Given the description of an element on the screen output the (x, y) to click on. 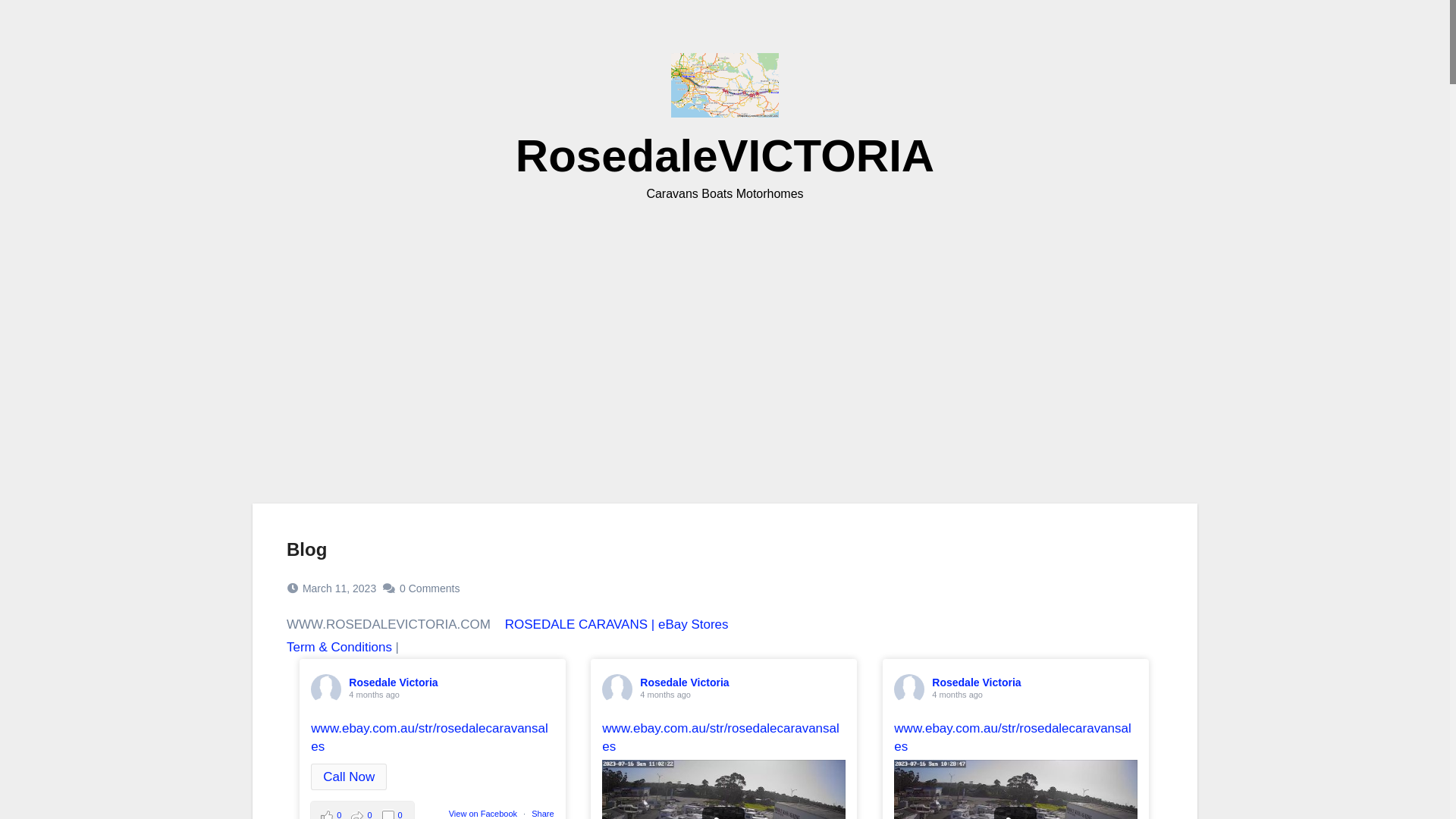
Blog Element type: text (306, 549)
Rosedale Victoria Element type: text (975, 682)
www.ebay.com.au/str/rosedalecaravansales Element type: text (1012, 737)
Term & Conditions Element type: text (339, 647)
View on Facebook Element type: text (482, 813)
www.ebay.com.au/str/rosedalecaravansales Element type: text (428, 737)
Advertisement Element type: hover (724, 333)
ROSEDALE CARAVANS | eBay Stores Element type: text (616, 624)
Share Element type: text (542, 813)
March 11, 2023 Element type: text (339, 588)
www.ebay.com.au/str/rosedalecaravansales Element type: text (720, 737)
0 Comments Element type: text (429, 588)
Call Now Element type: text (348, 776)
RosedaleVICTORIA Element type: text (724, 155)
Rosedale Victoria Element type: text (684, 682)
Rosedale Victoria Element type: text (392, 682)
